Given the description of an element on the screen output the (x, y) to click on. 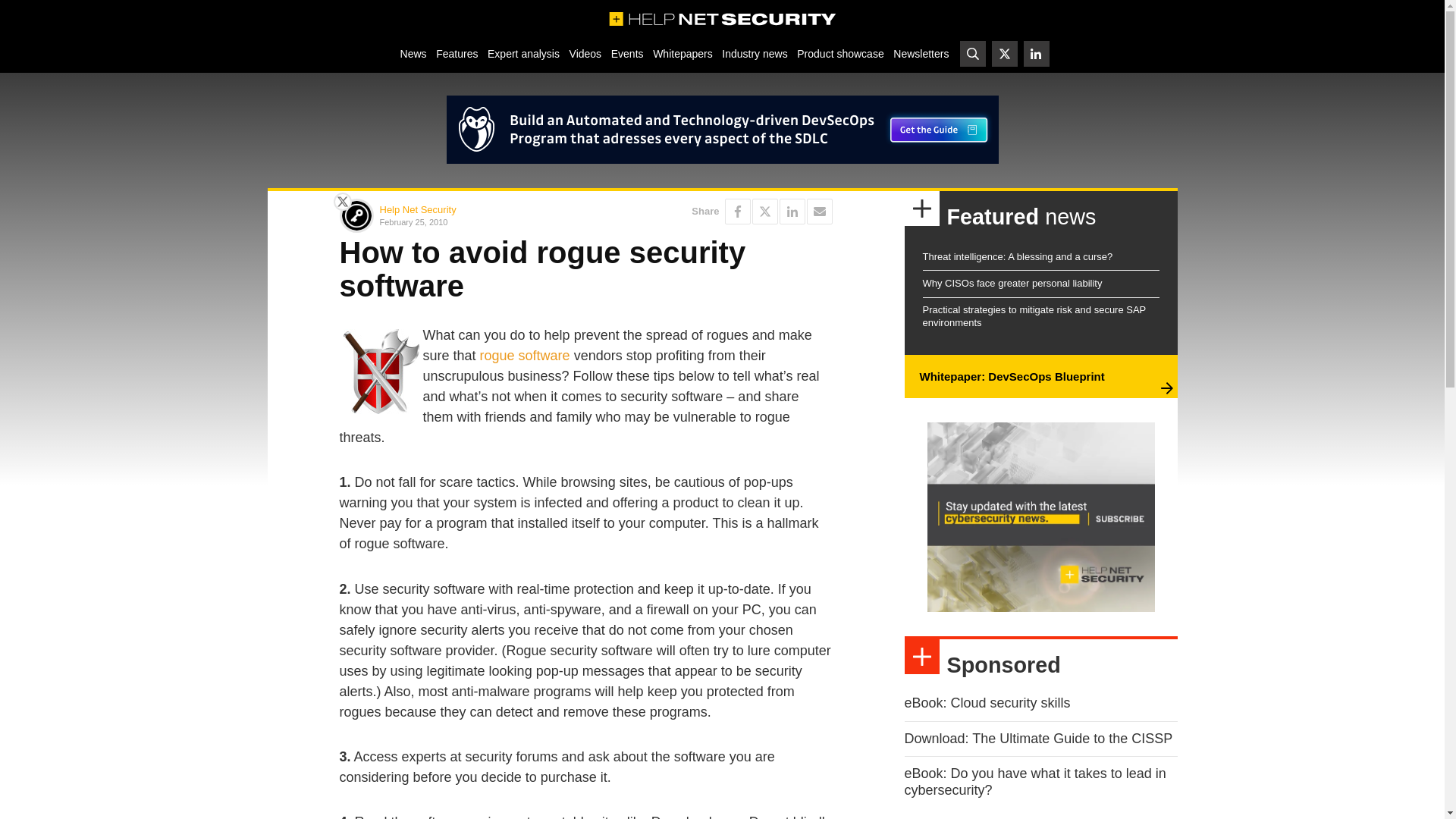
Newsletters (920, 53)
Videos (584, 53)
Download: The Ultimate Guide to the CISSP (1038, 738)
Share How to avoid rogue security software on Twitter (764, 211)
Industry news (754, 53)
Events (626, 53)
Download: The Ultimate Guide to the CISSP (1038, 738)
Threat intelligence: A blessing and a curse? (1016, 256)
Share How to avoid rogue security software via E-mail (819, 211)
